Given the description of an element on the screen output the (x, y) to click on. 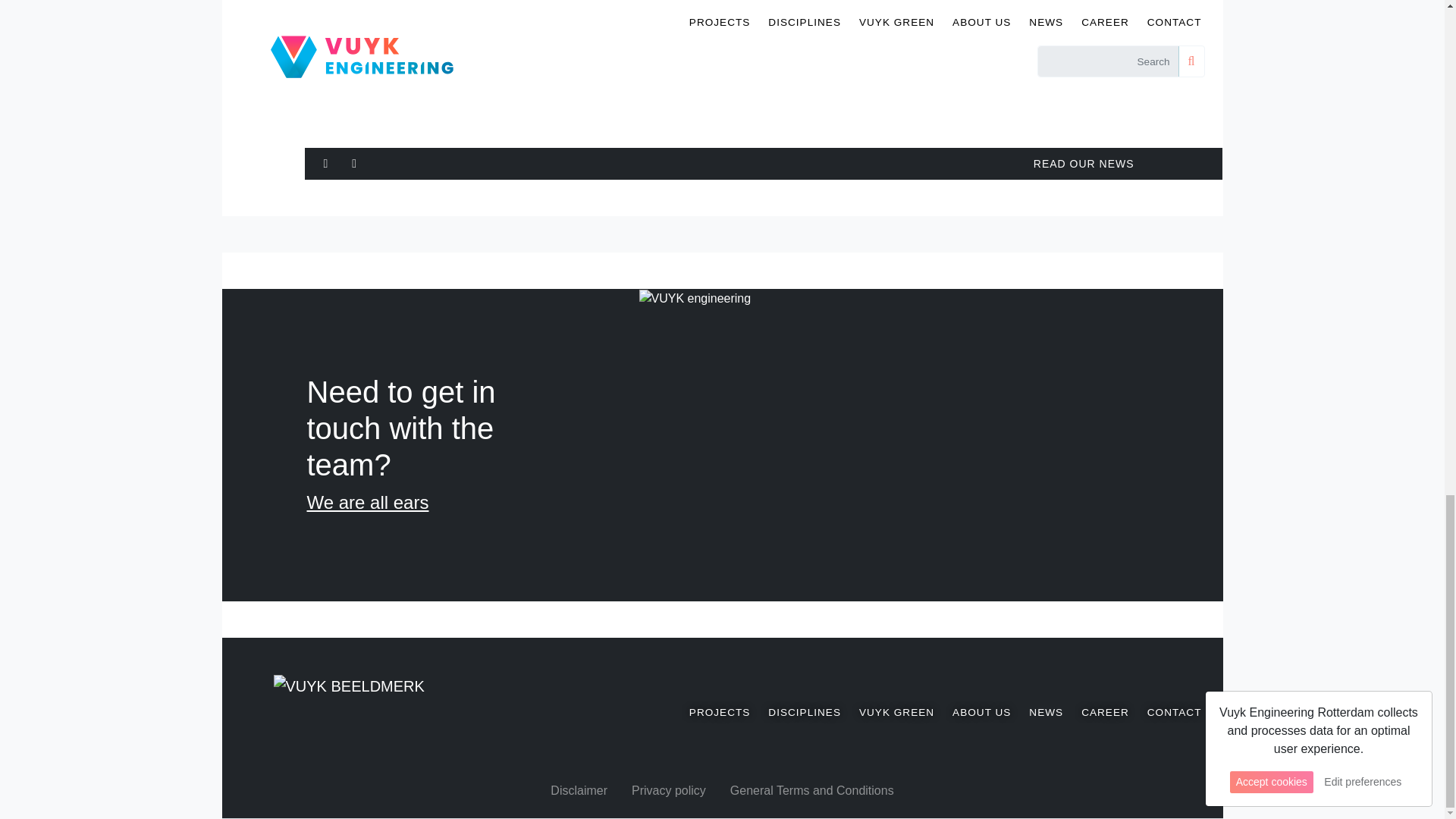
We are all ears (366, 502)
READ OUR NEWS (1083, 163)
